Given the description of an element on the screen output the (x, y) to click on. 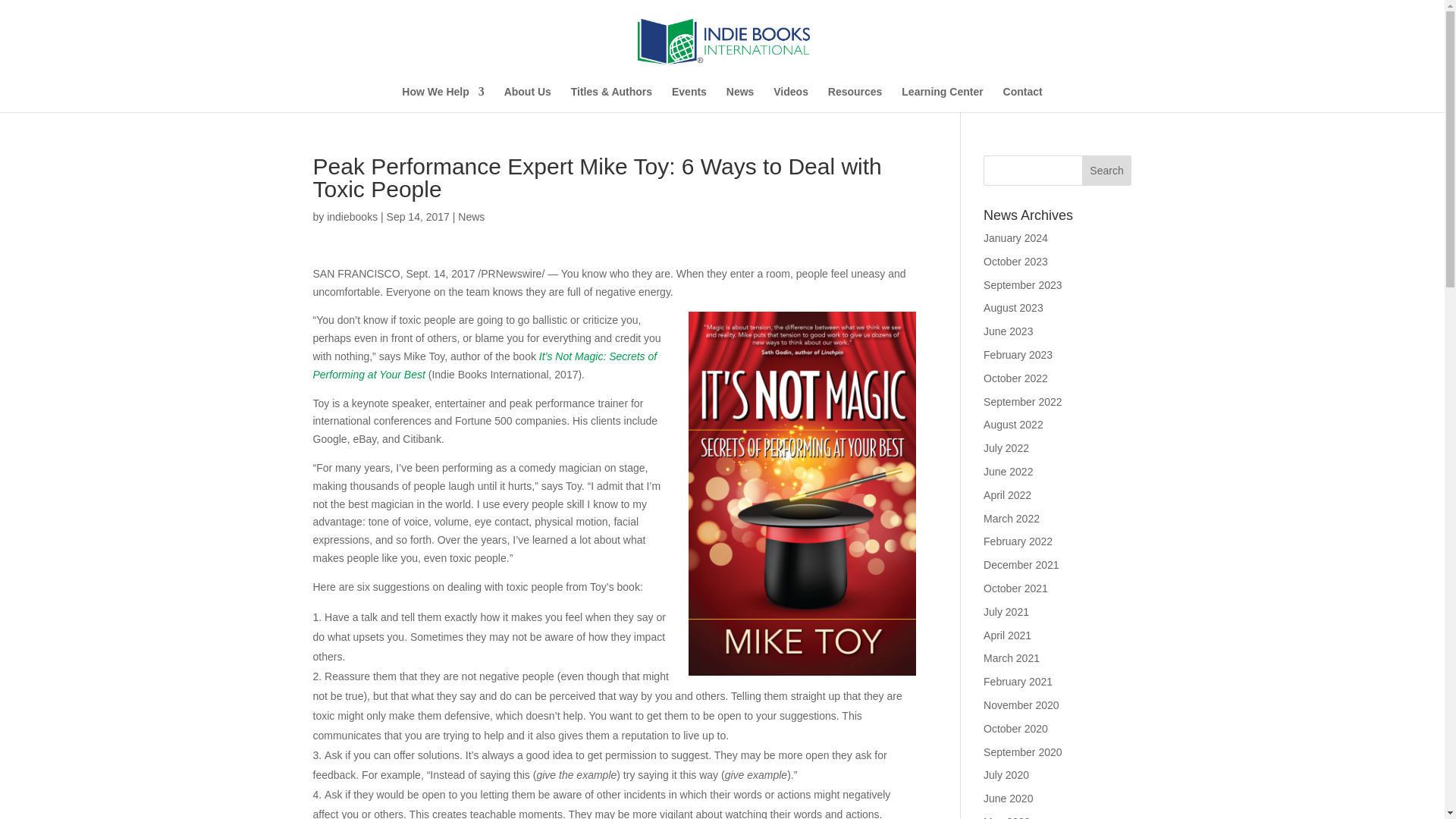
October 2023 (1016, 261)
News (471, 216)
September 2022 (1023, 401)
June 2023 (1008, 331)
Search (1106, 170)
How We Help (442, 99)
July 2022 (1006, 448)
Resources (855, 99)
indiebooks (351, 216)
Videos (790, 99)
